Given the description of an element on the screen output the (x, y) to click on. 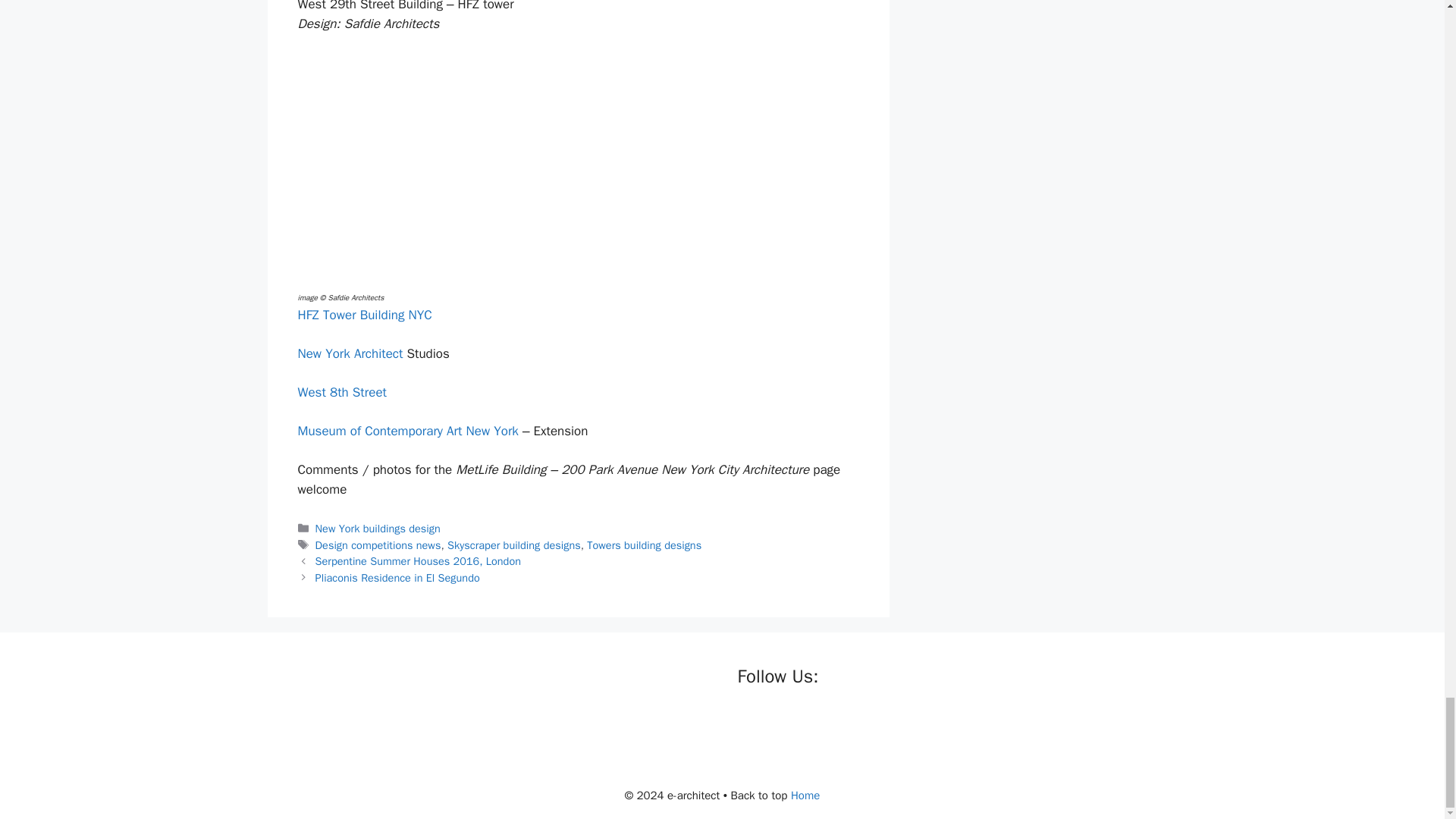
twitter (781, 722)
facebook (749, 722)
linkedin (811, 722)
instagram (842, 722)
